Given the description of an element on the screen output the (x, y) to click on. 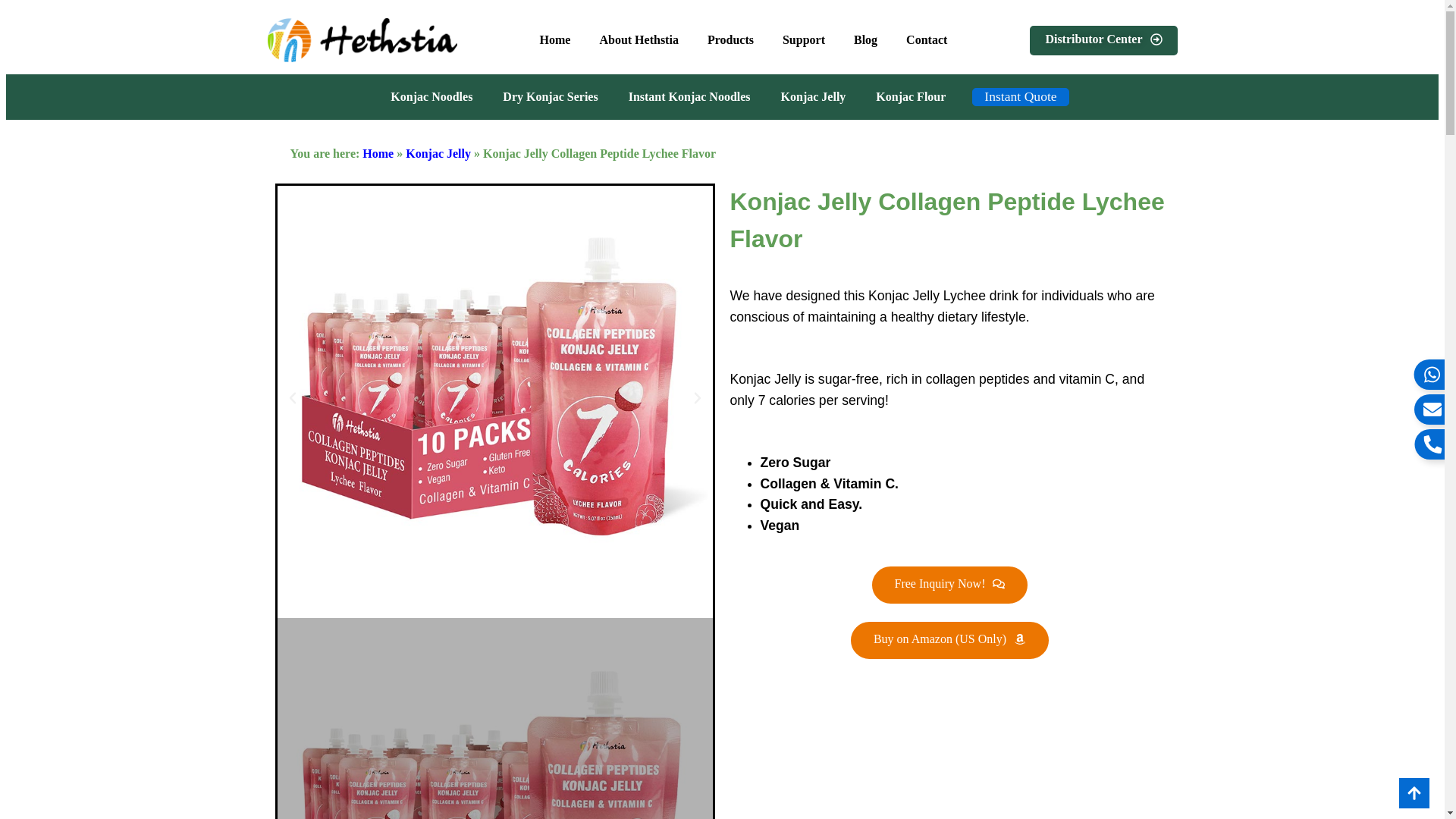
Products (730, 39)
Home (555, 39)
Contact (926, 39)
Dry Konjac Series (549, 96)
About Hethstia (638, 39)
Support (804, 39)
Konjac Noodles (431, 96)
Distributor Center (1102, 40)
